Given the description of an element on the screen output the (x, y) to click on. 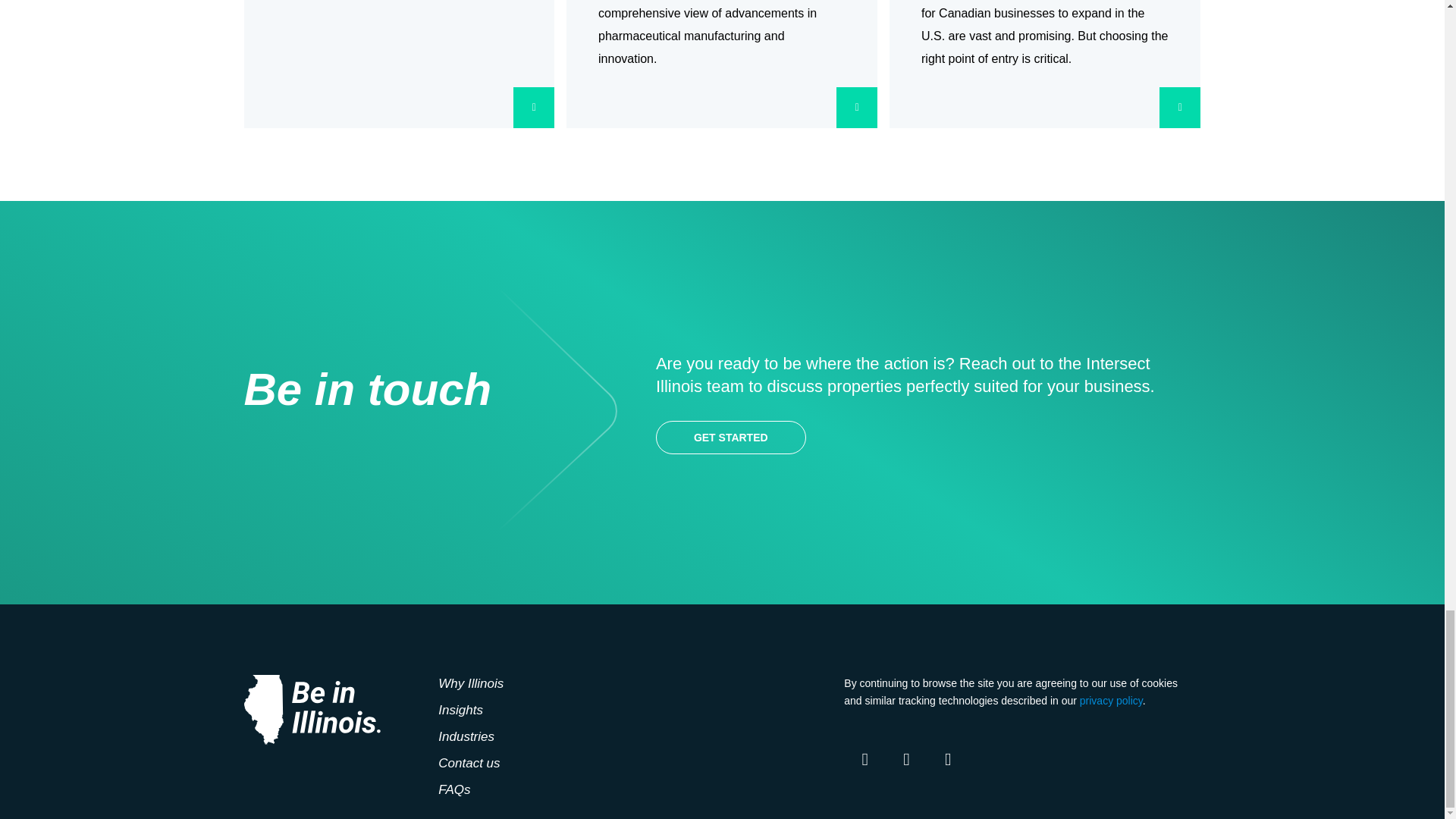
privacy policy (1111, 700)
Industries (466, 736)
Insights (460, 709)
Why Illinois (470, 683)
GET STARTED (731, 437)
FAQs (454, 789)
Contact us (468, 762)
